Given the description of an element on the screen output the (x, y) to click on. 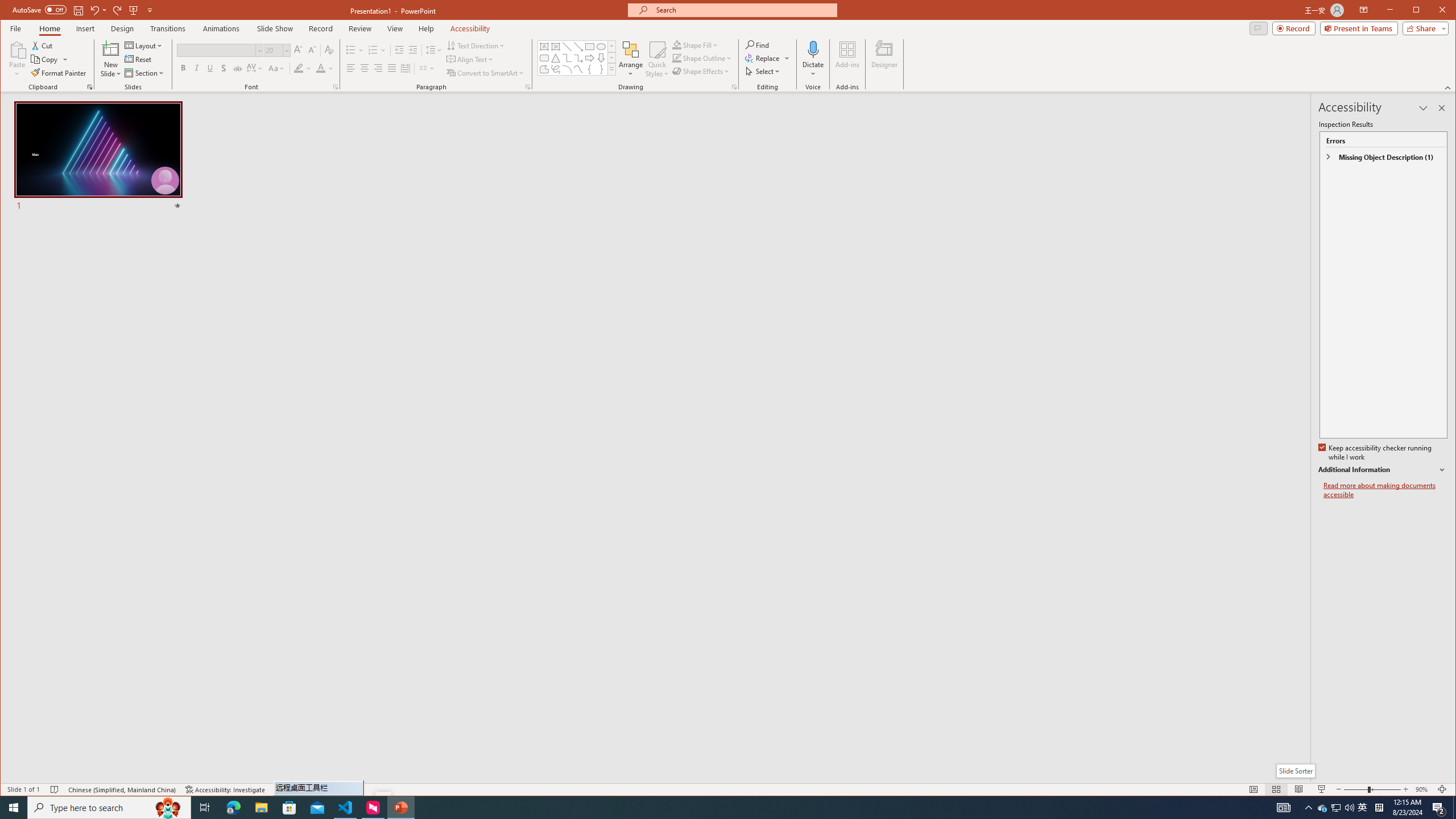
Format Object... (733, 86)
Increase Indent (412, 49)
Increase Font Size (297, 49)
PowerPoint - 1 running window (400, 807)
Type here to search (108, 807)
